Given the description of an element on the screen output the (x, y) to click on. 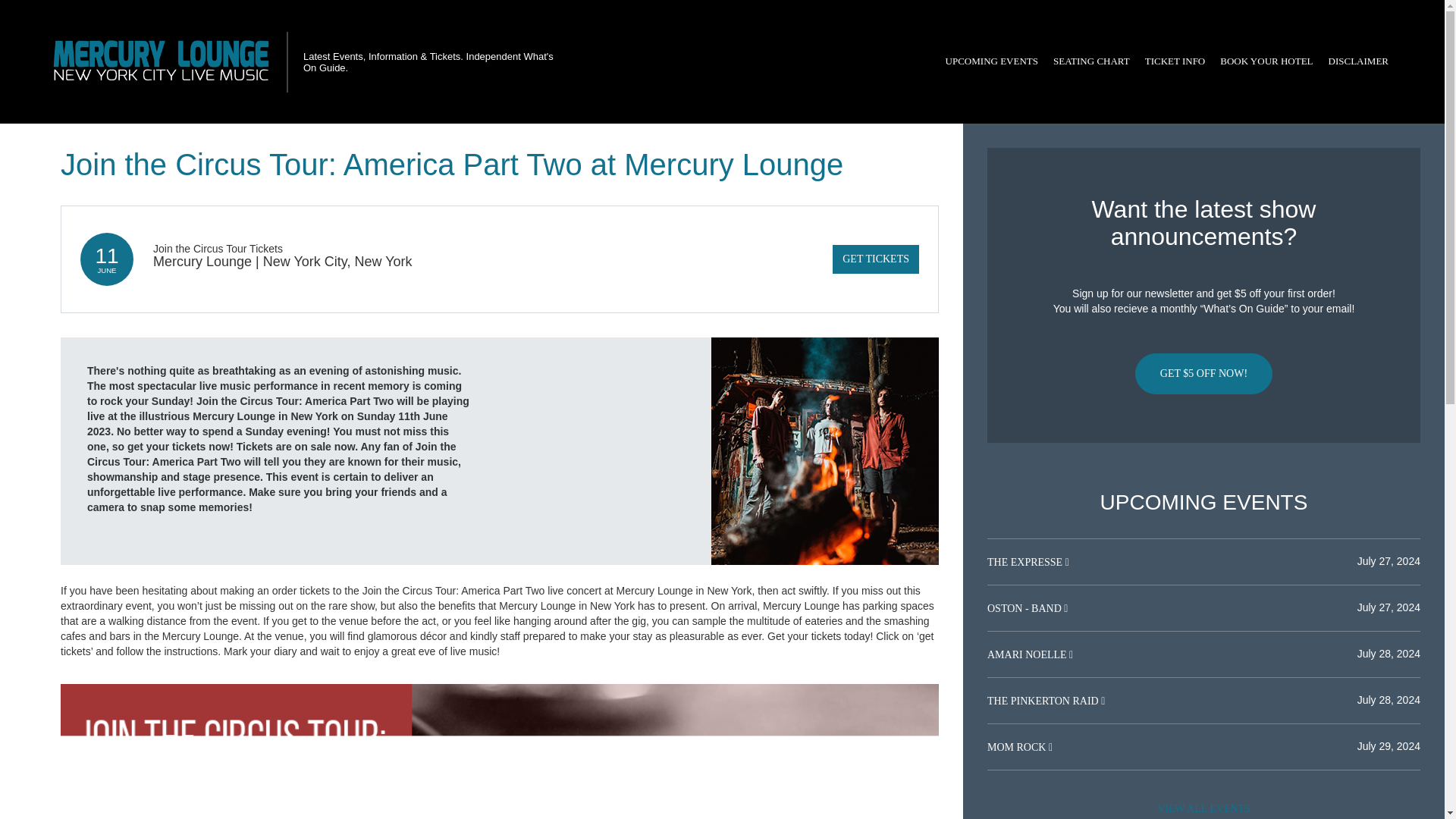
VIEW ALL EVENTS (1203, 806)
Join the Circus Tour: America Part Two at Mercury Lounge (825, 451)
GET TICKETS (875, 258)
THE PINKERTON RAID (1043, 700)
Join the Circus Tour Tickets (217, 248)
SEATING CHART (1091, 61)
BOOK YOUR HOTEL (1266, 61)
TICKET INFO (1174, 61)
DISCLAIMER (1358, 61)
UPCOMING EVENTS (991, 61)
